Given the description of an element on the screen output the (x, y) to click on. 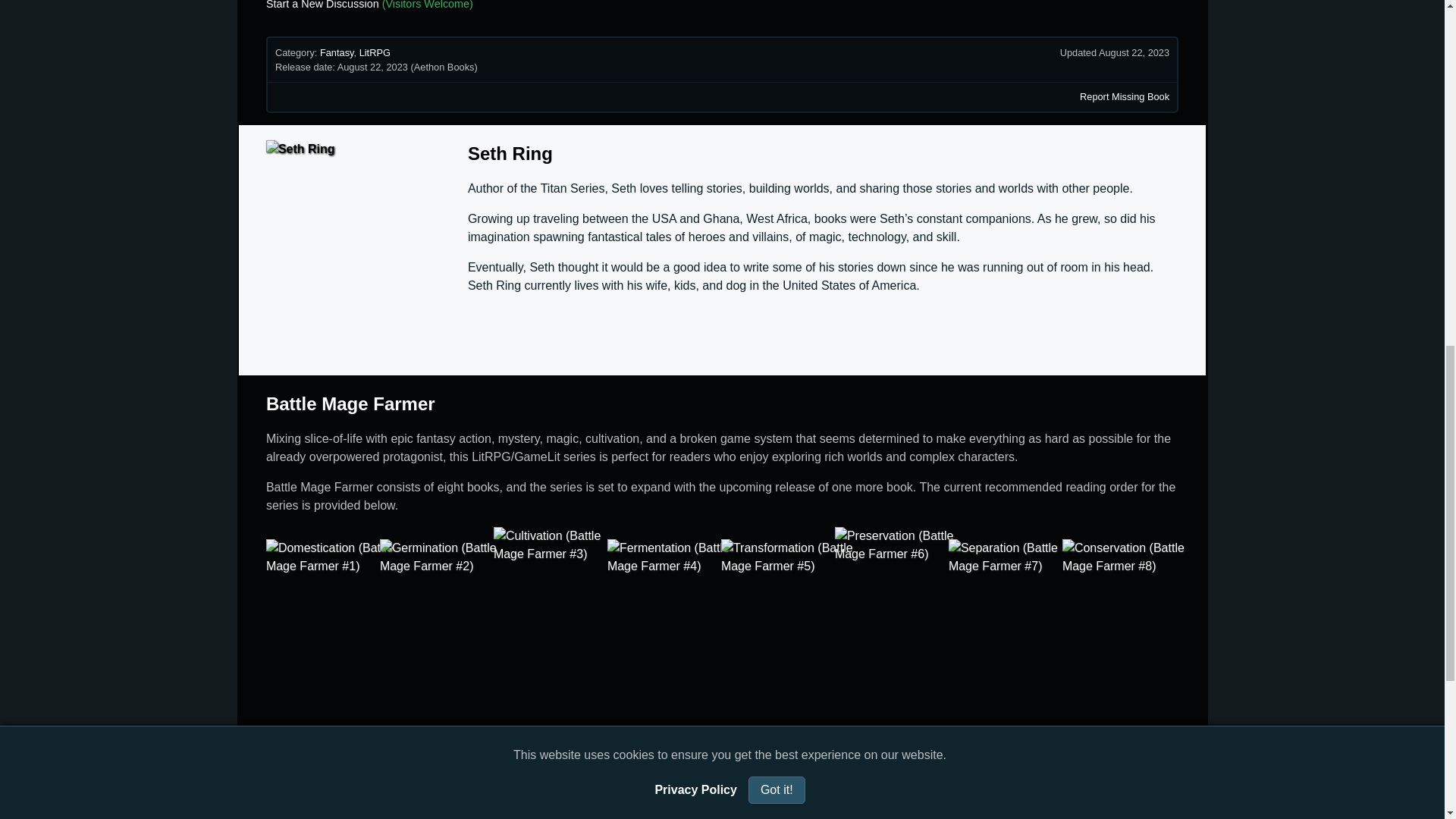
Fantasy (336, 52)
Seth Ring (510, 153)
LitRPG (374, 52)
Battle Mage Farmer (350, 403)
